Given the description of an element on the screen output the (x, y) to click on. 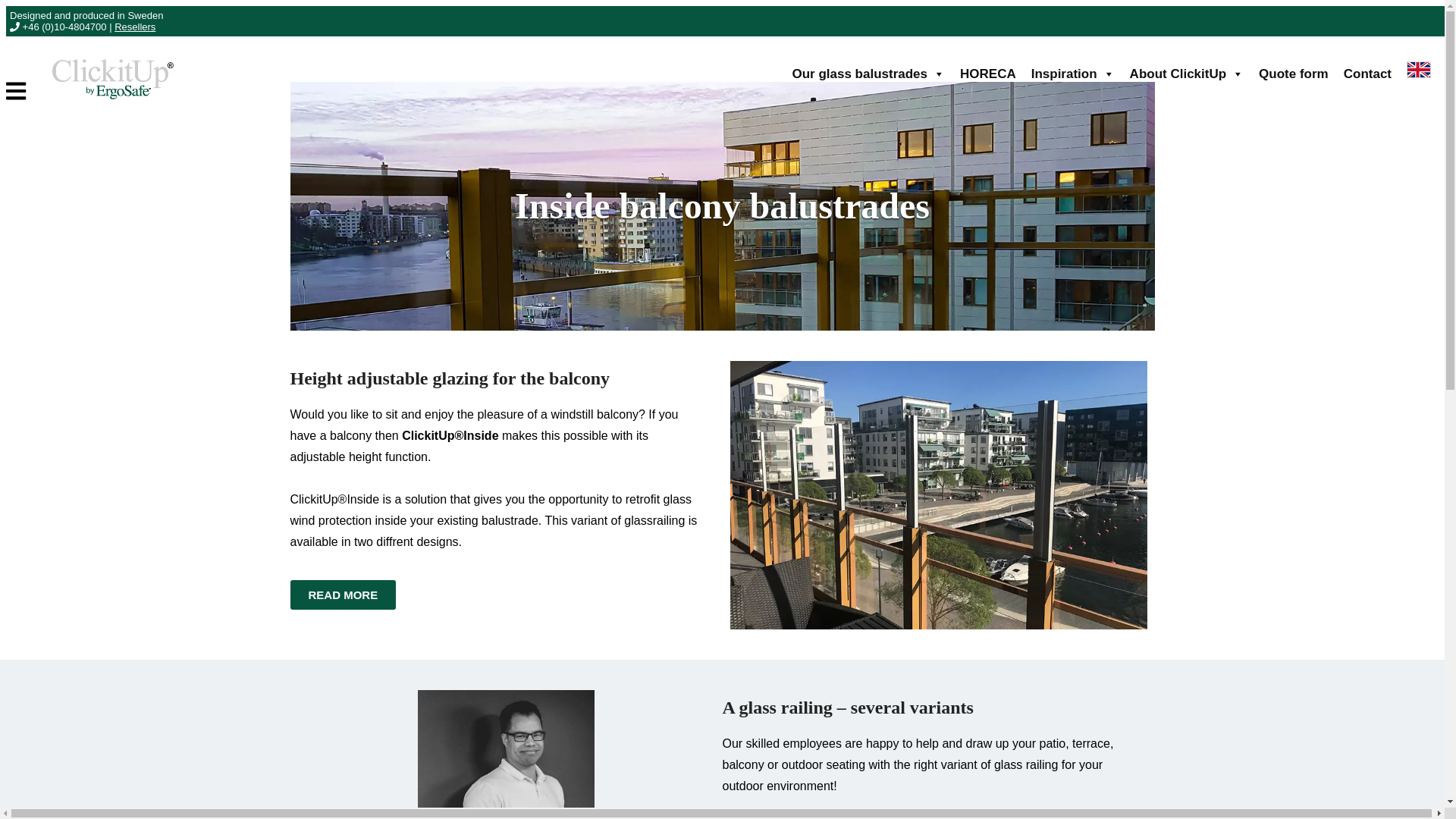
Resellers (135, 26)
About ClickitUp (1187, 73)
Quote form (1293, 73)
HORECA (987, 73)
Inspiration (1072, 73)
Our glass balustrades (868, 73)
Contact (1367, 73)
